Given the description of an element on the screen output the (x, y) to click on. 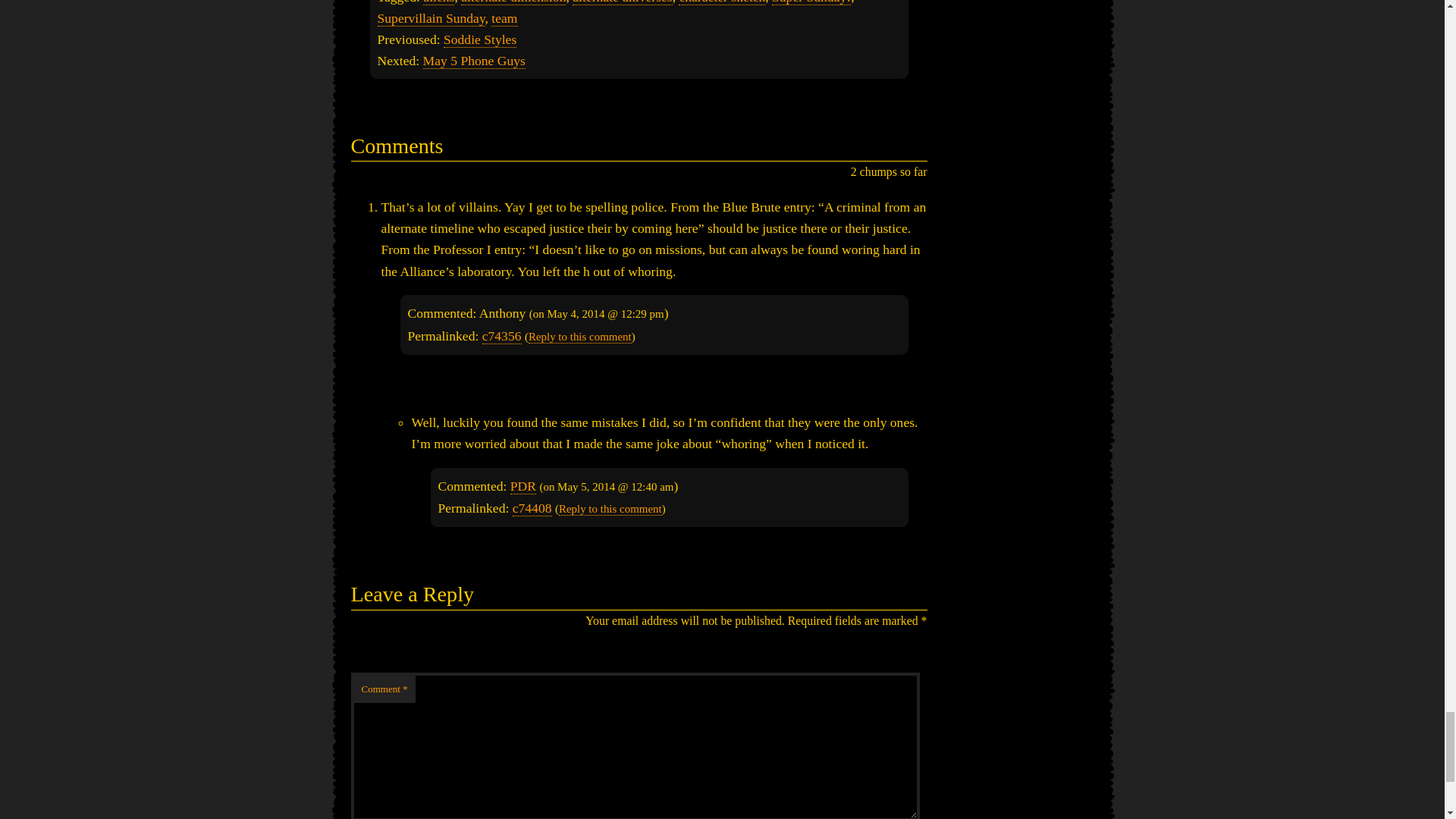
c74356 (501, 335)
Reply to this comment (610, 508)
Supervillain Sunday (430, 18)
team (504, 18)
PDR (523, 486)
Super Sunday! (810, 2)
Reply to this comment (579, 336)
May 5 Phone Guys (474, 60)
aliens (438, 2)
Soddie Styles (480, 39)
character sketch (721, 2)
c74408 (531, 508)
alternate universes (621, 2)
alternate dimension (513, 2)
